Given the description of an element on the screen output the (x, y) to click on. 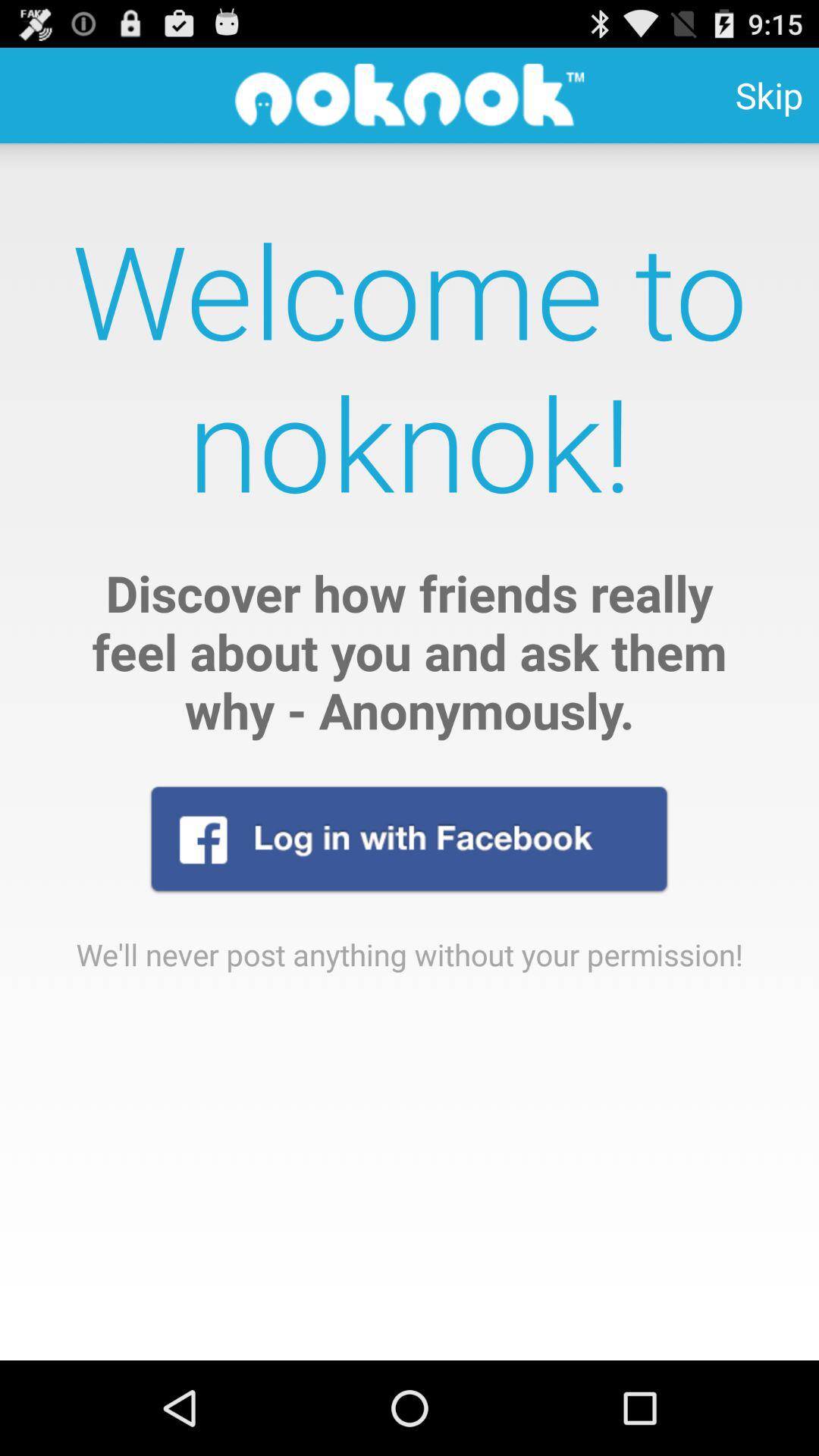
turn on skip icon (769, 95)
